Given the description of an element on the screen output the (x, y) to click on. 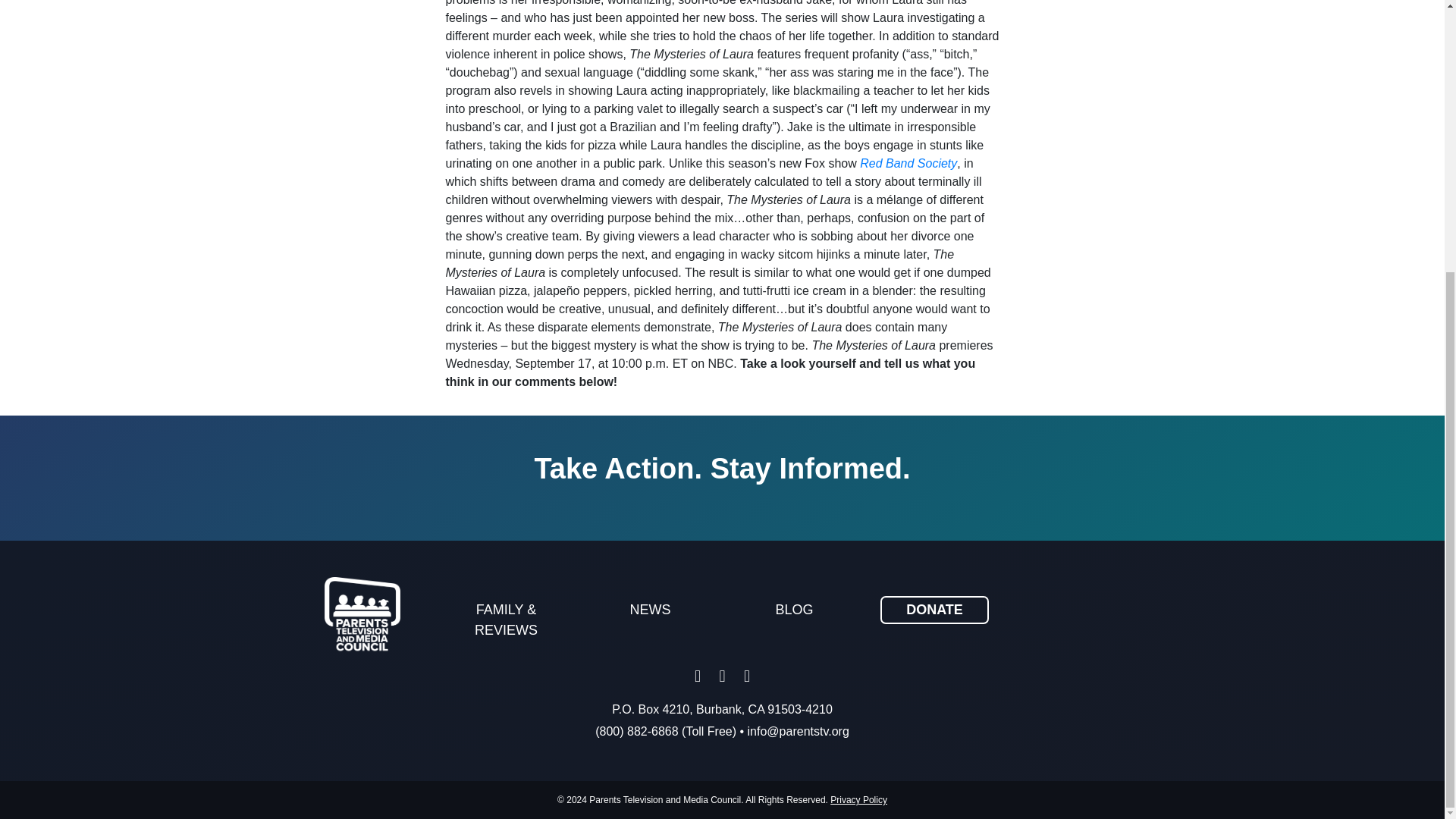
NEWS (650, 609)
DONATE (934, 610)
Privacy Policy (857, 799)
BLOG (794, 609)
Red Band Society (907, 163)
